Given the description of an element on the screen output the (x, y) to click on. 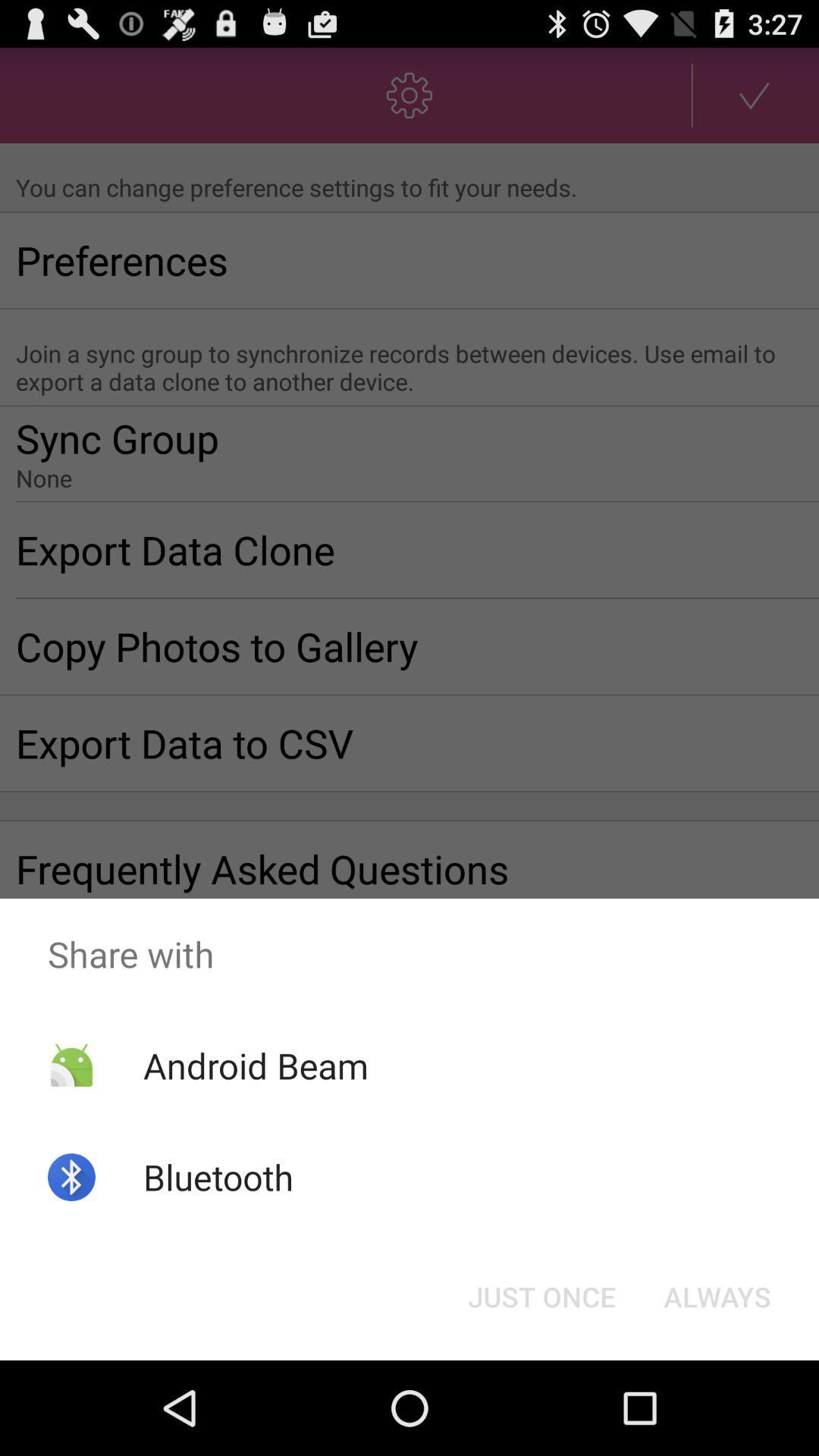
scroll to always (717, 1296)
